Given the description of an element on the screen output the (x, y) to click on. 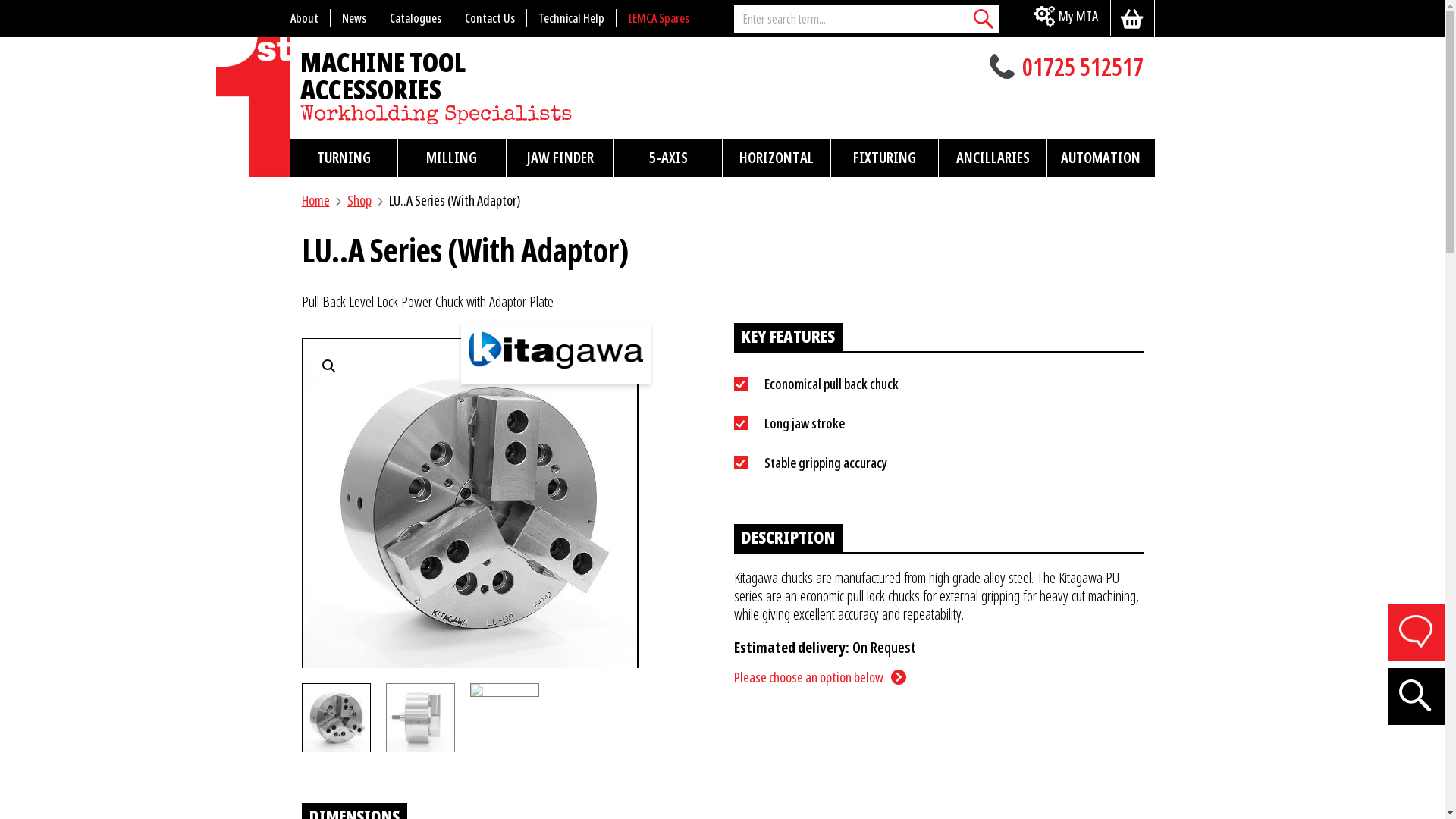
LU20Series2028229.jpg Element type: hover (805, 513)
5-AXIS Element type: text (667, 157)
MACHINE TOOL
ACCESSORIES
Workholding Specialists Element type: text (393, 114)
News Element type: text (354, 18)
JAW FINDER Element type: text (560, 157)
About Element type: text (309, 18)
IEMCA Spares Element type: text (657, 18)
Contact Us Element type: text (490, 18)
LU20Series.jpg Element type: hover (468, 503)
ANCILLARIES Element type: text (992, 157)
AUTOMATION Element type: text (1100, 157)
01725 512517 Element type: text (1010, 68)
HORIZONTAL Element type: text (776, 157)
Technical Help Element type: text (570, 18)
Shop Element type: text (359, 199)
FIXTURING Element type: text (884, 157)
Catalogues Element type: text (414, 18)
Home Element type: text (315, 199)
My MTA Element type: text (1066, 17)
Please choose an option below Element type: text (820, 676)
TURNING Element type: text (343, 157)
MILLING Element type: text (451, 157)
